Given the description of an element on the screen output the (x, y) to click on. 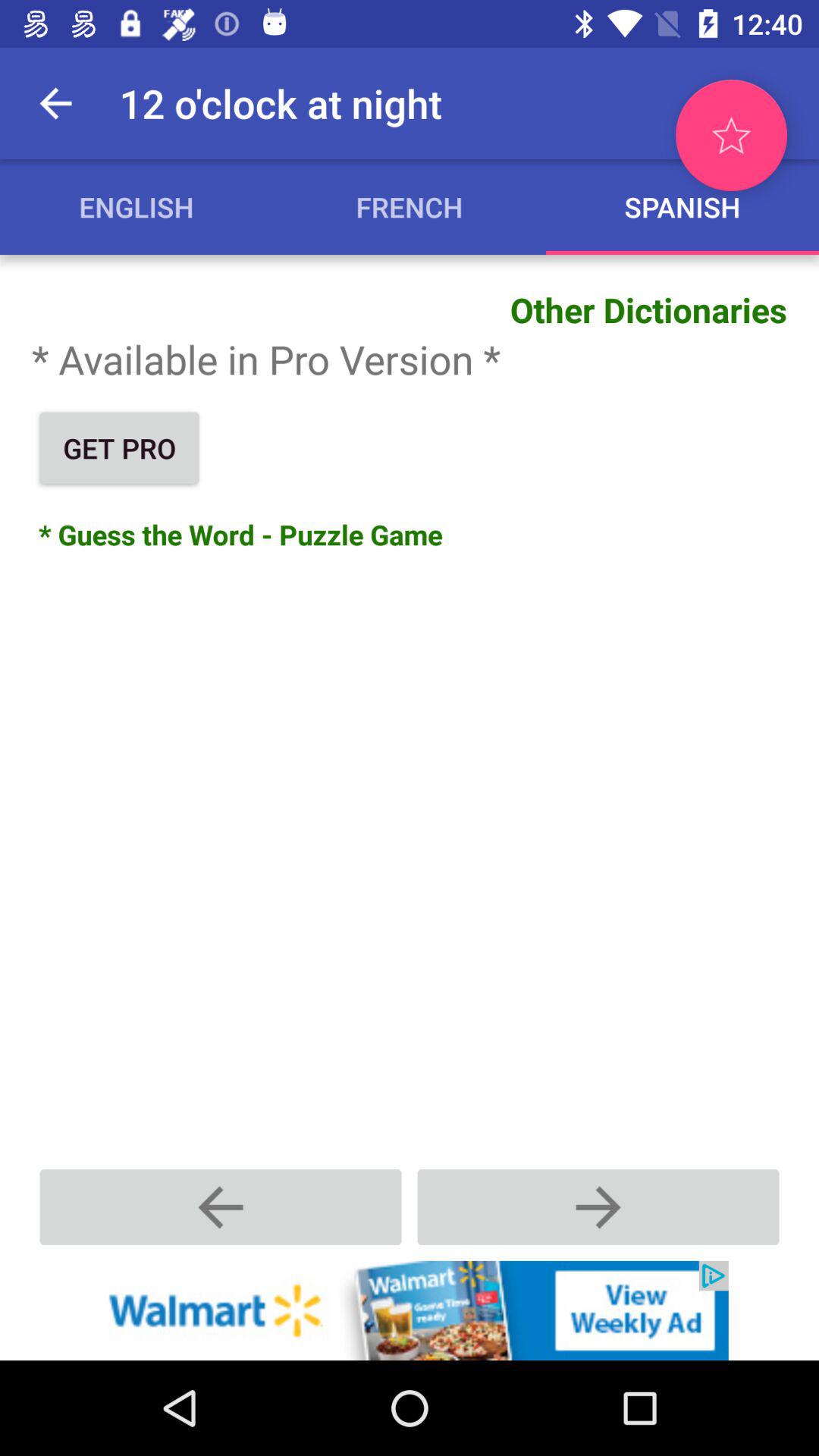
add to favorite (731, 135)
